Given the description of an element on the screen output the (x, y) to click on. 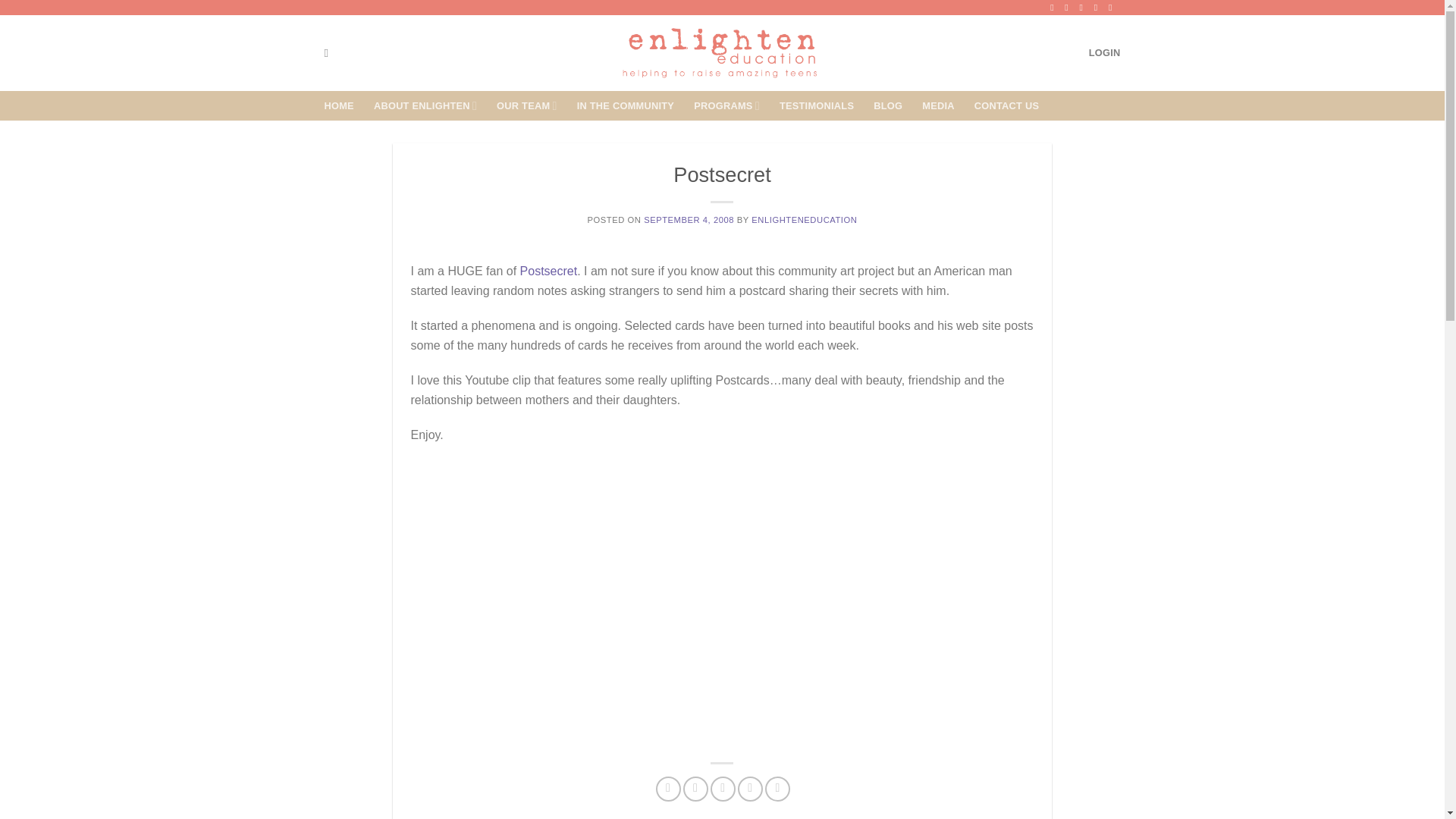
HOME (338, 105)
Email to a Friend (722, 788)
IN THE COMMUNITY (625, 105)
LOGIN (1105, 52)
PROGRAMS (727, 105)
Login (1105, 52)
ABOUT ENLIGHTEN (425, 105)
Share on Twitter (694, 788)
Pin on Pinterest (750, 788)
OUR TEAM (526, 105)
